Given the description of an element on the screen output the (x, y) to click on. 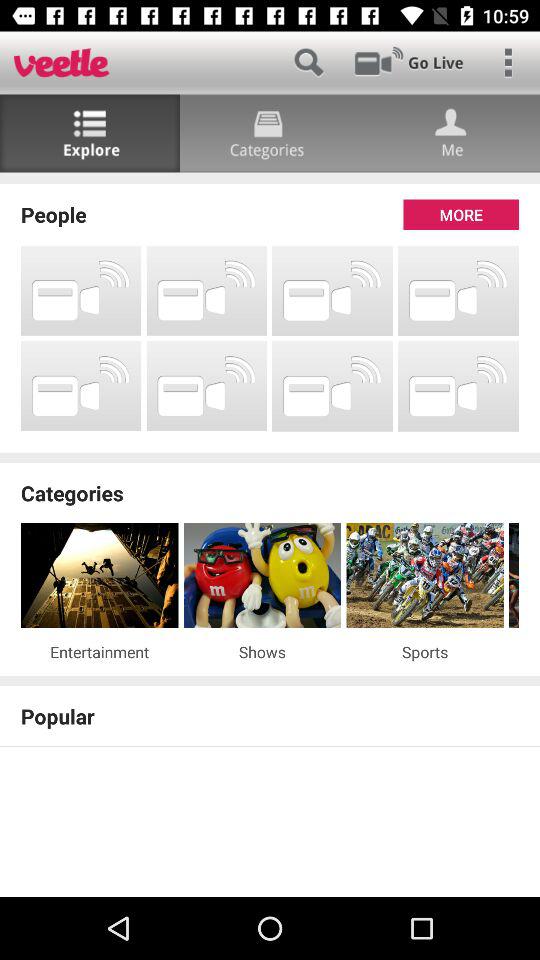
it is identify the person (450, 133)
